Given the description of an element on the screen output the (x, y) to click on. 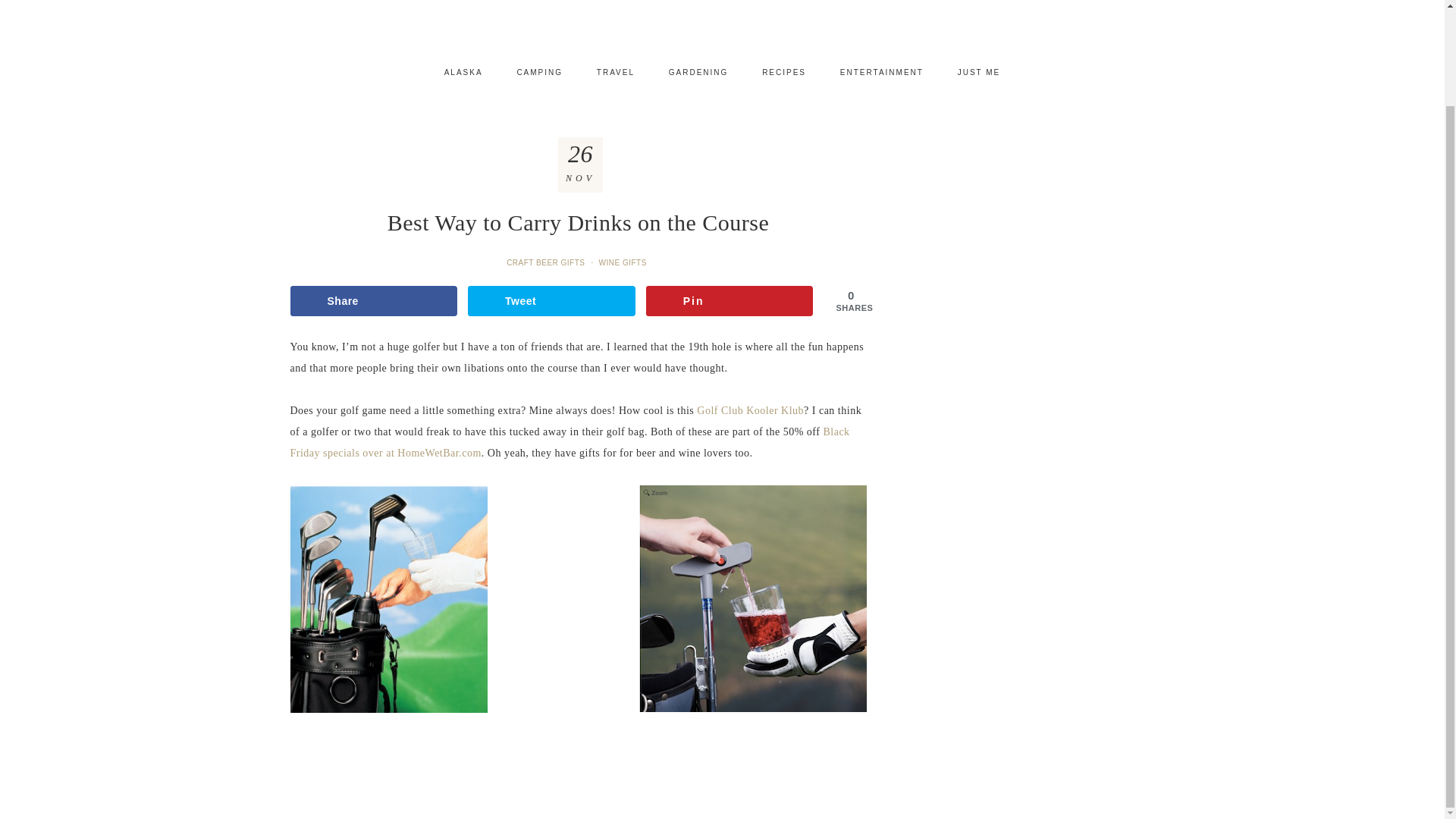
ALASKA (463, 72)
CAMPING (539, 72)
Share on Twitter (550, 300)
Share on Facebook (373, 300)
RECIPES (783, 72)
TRAVEL (614, 72)
Save to Pinterest (729, 300)
KRISTI TRIMMER (722, 17)
ENTERTAINMENT (882, 72)
GARDENING (698, 72)
